Given the description of an element on the screen output the (x, y) to click on. 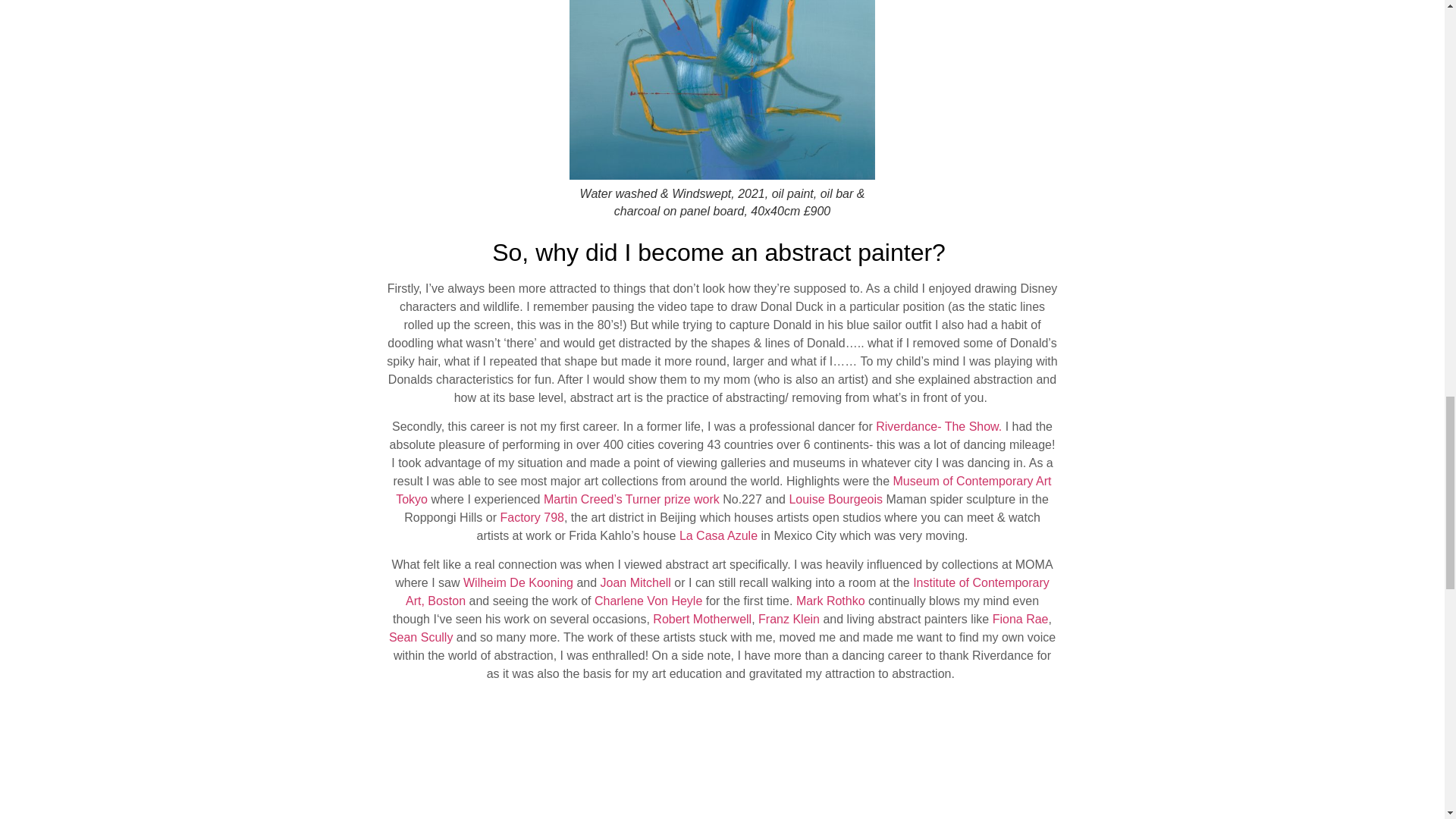
Riverdance- The Show. (938, 426)
Factory 798 (531, 517)
Louise Bourgeois (837, 499)
Museum of Contemporary Art Tokyo (723, 490)
